Given the description of an element on the screen output the (x, y) to click on. 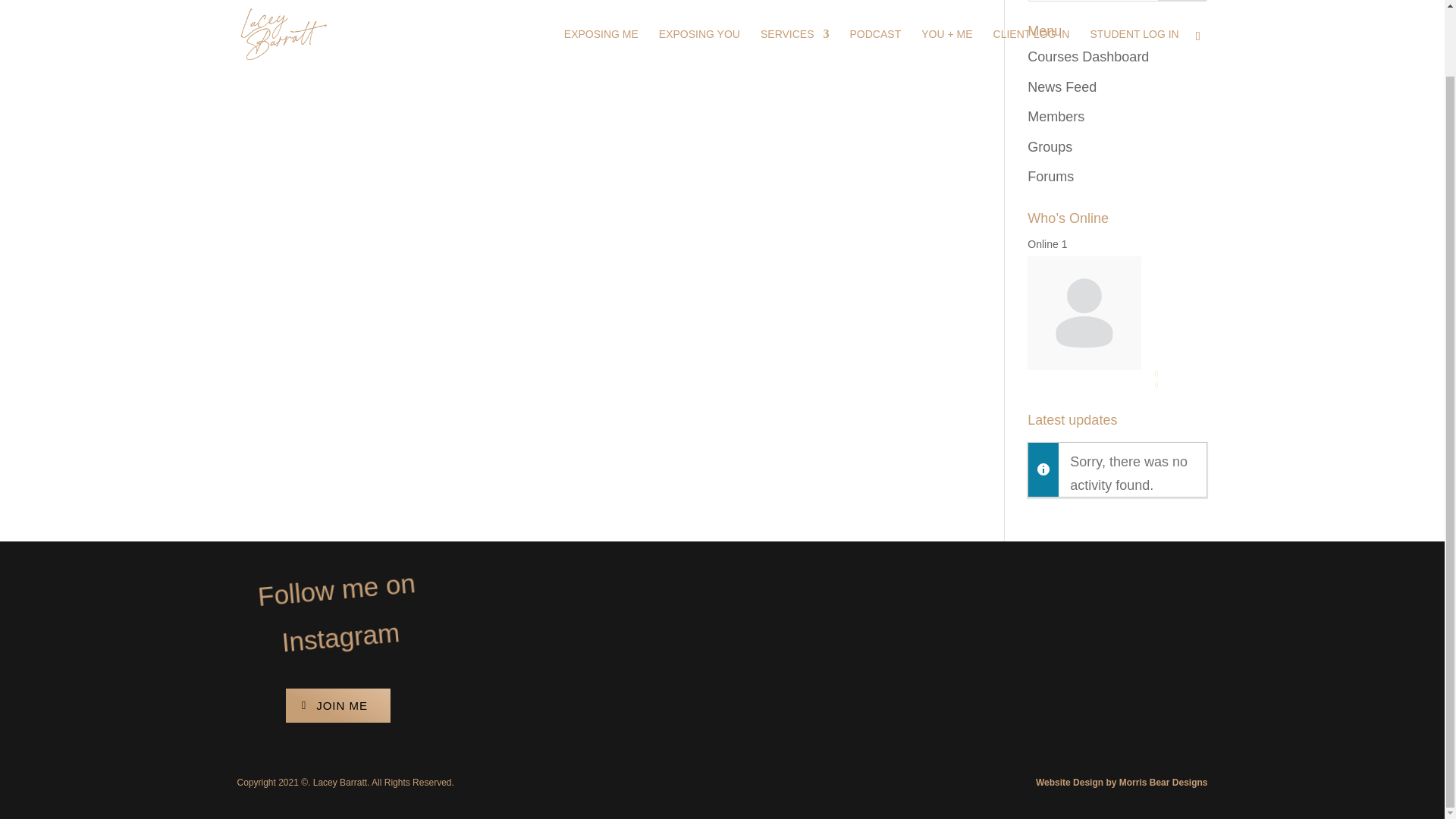
Search (1182, 0)
Website Design by Morris Bear Designs (1121, 782)
JOIN ME (337, 705)
Courses Dashboard (1087, 56)
Search (1182, 0)
News Feed (1061, 87)
Members (1055, 116)
Online 1 (1047, 244)
Groups (1049, 146)
Forums (1050, 176)
